Given the description of an element on the screen output the (x, y) to click on. 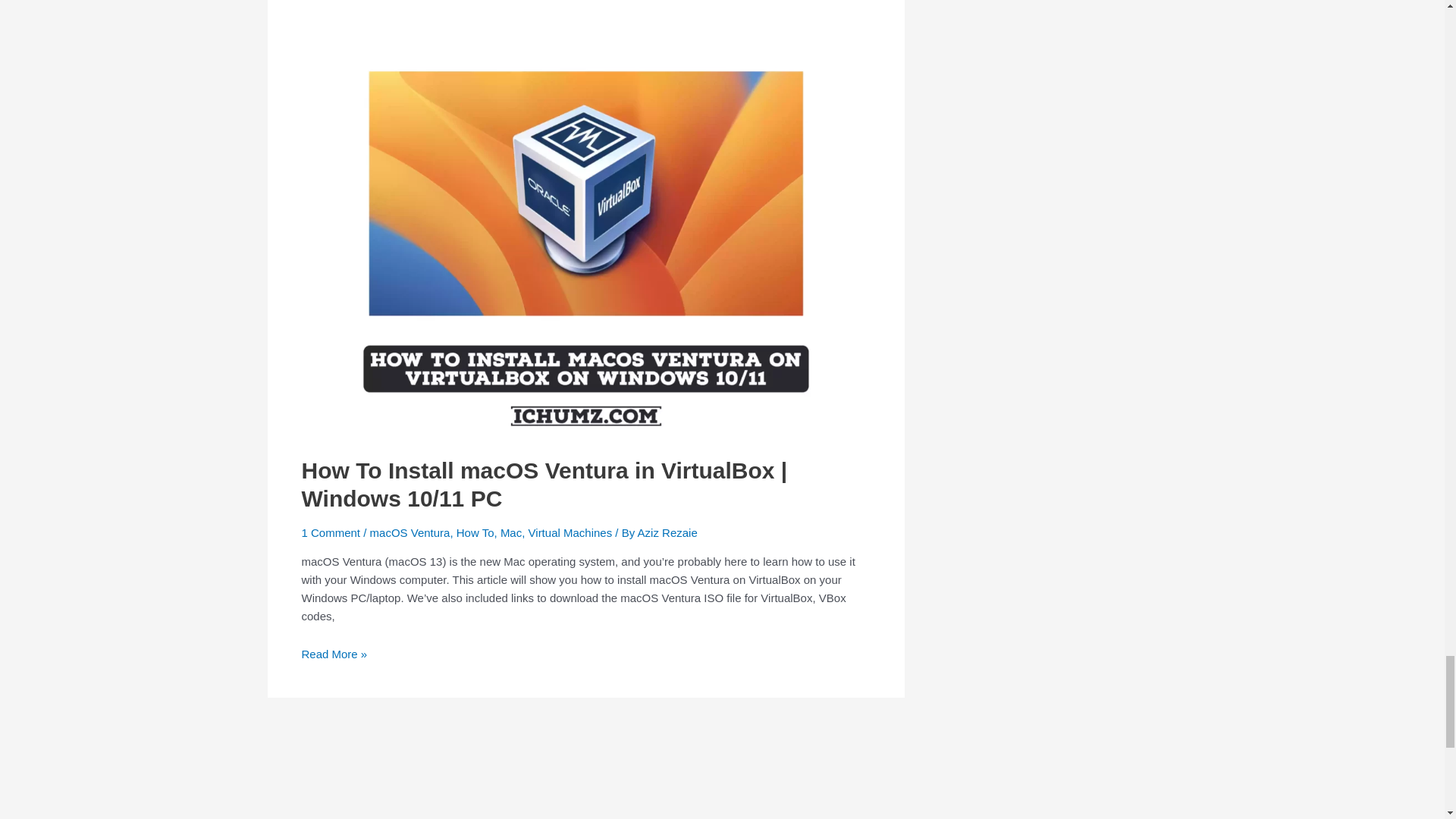
View all posts by Aziz Rezaie (667, 532)
